Given the description of an element on the screen output the (x, y) to click on. 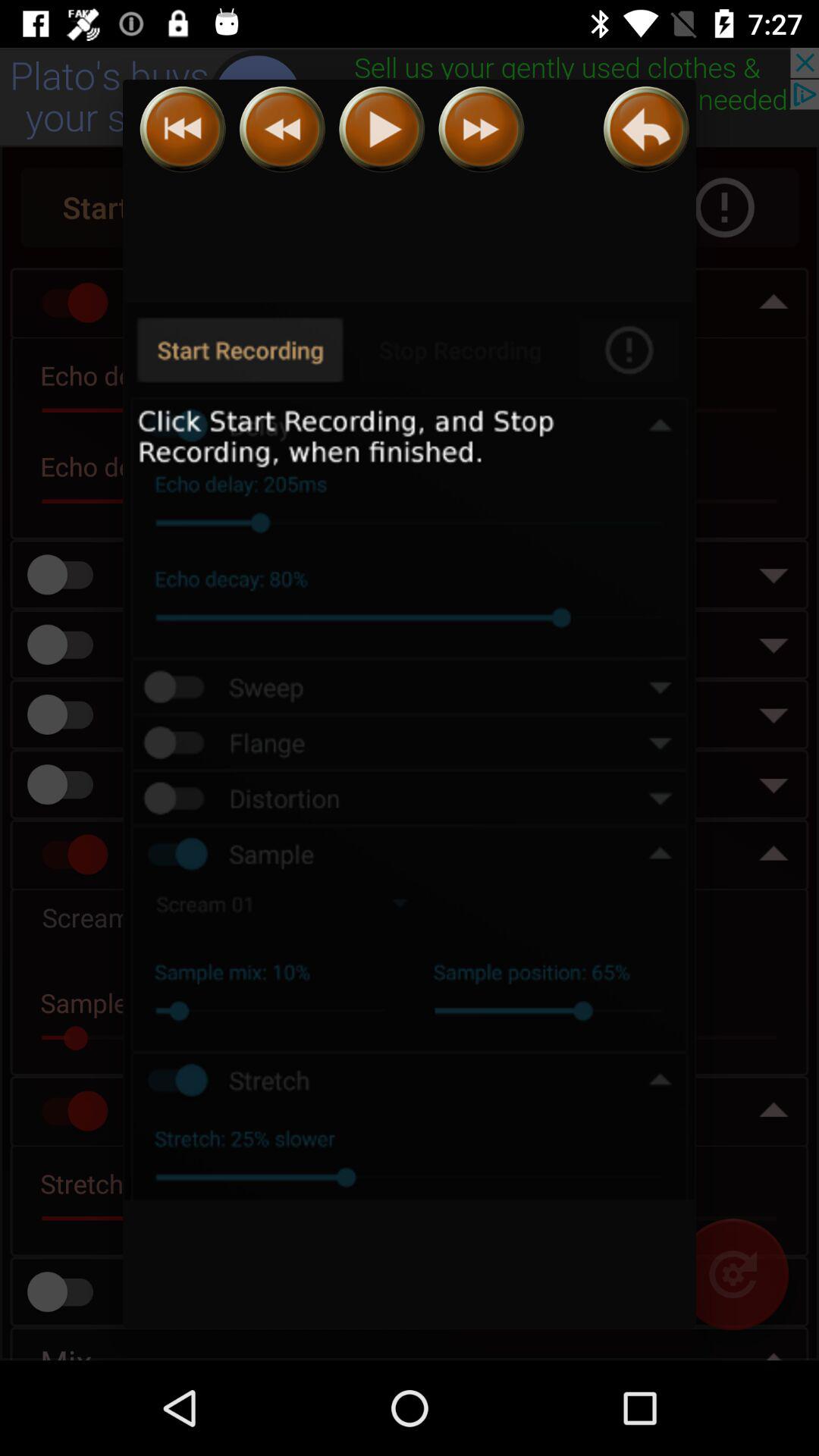
go back button (646, 129)
